Given the description of an element on the screen output the (x, y) to click on. 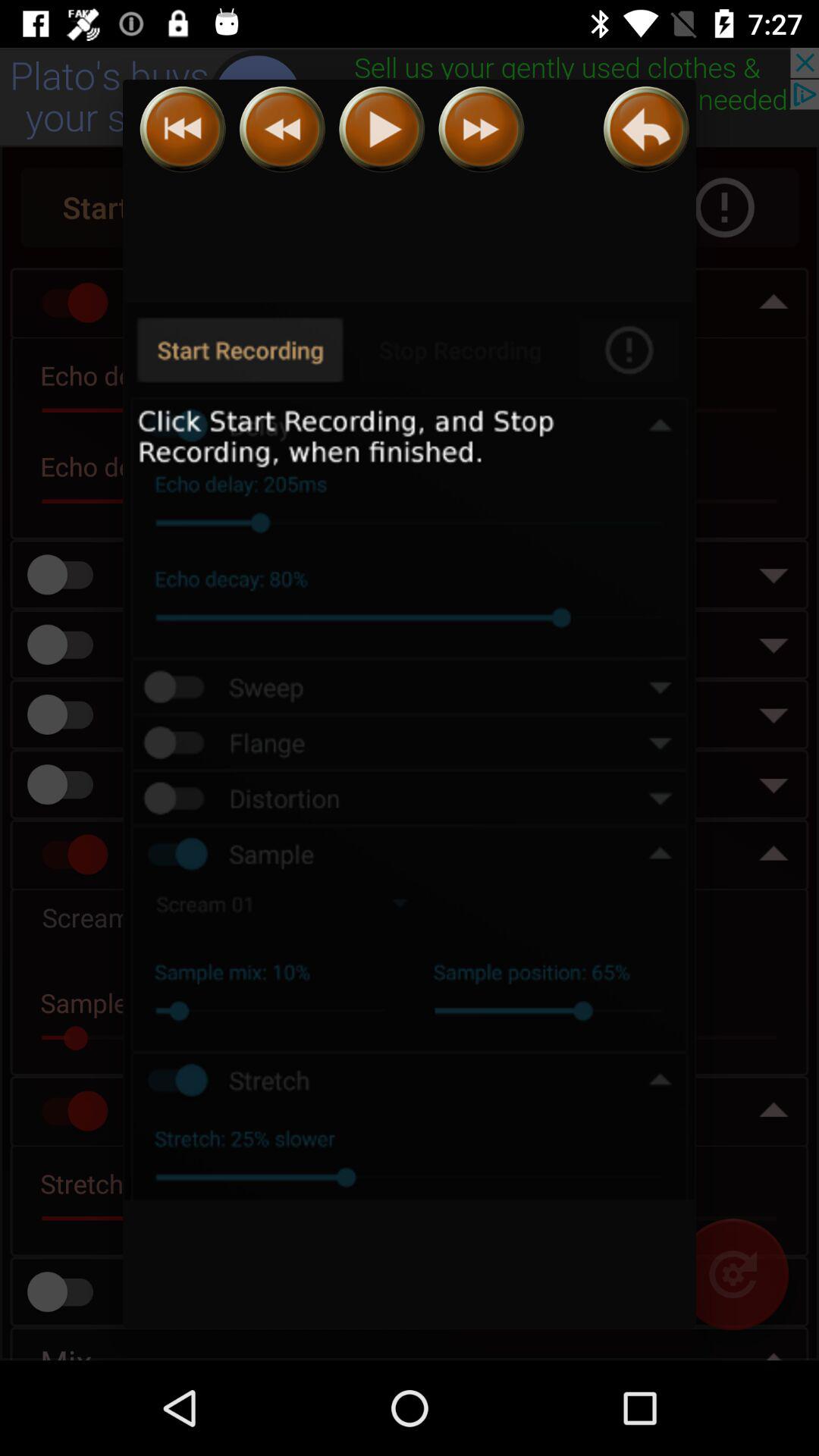
go back button (646, 129)
